Given the description of an element on the screen output the (x, y) to click on. 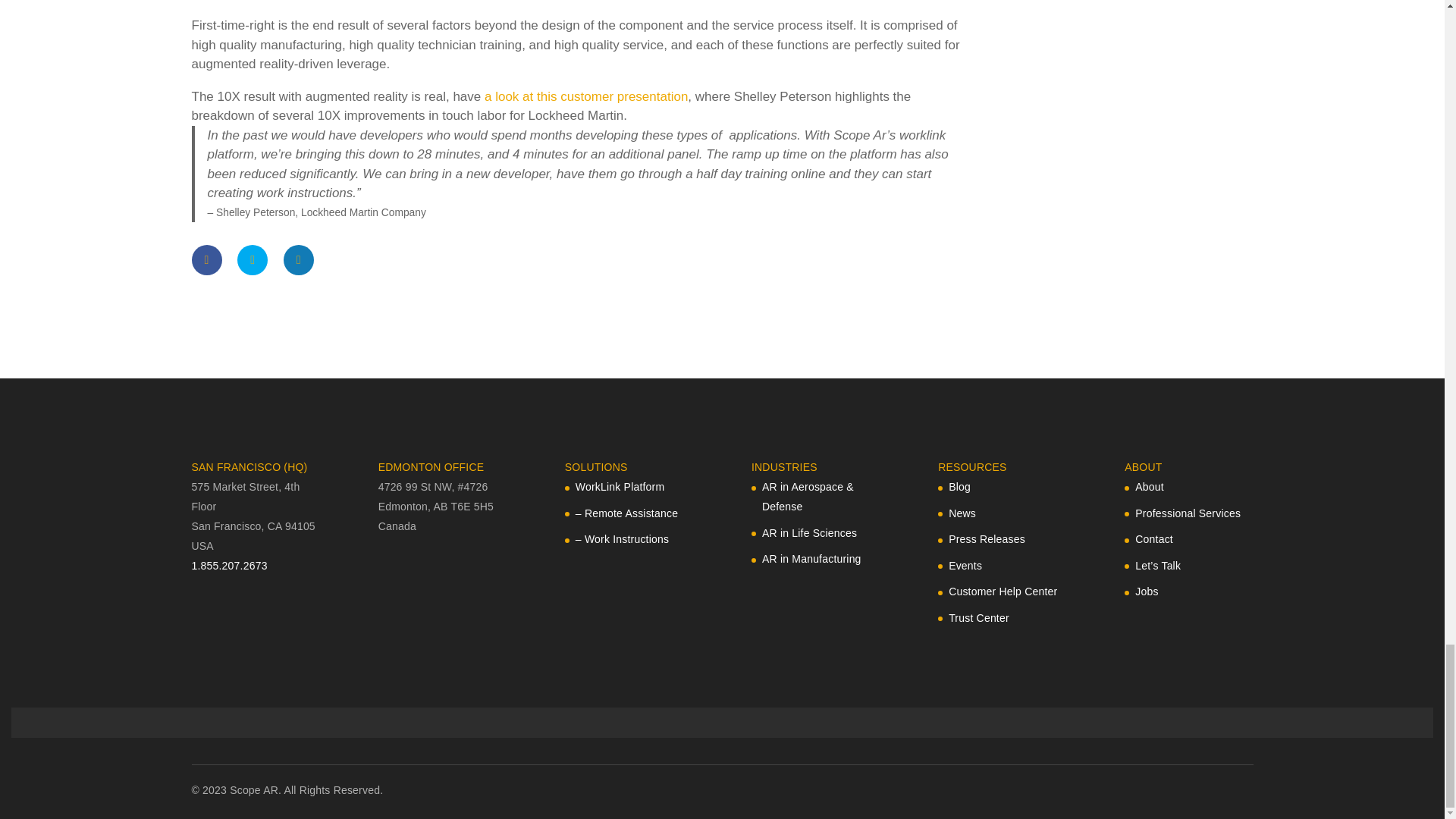
1.855.207.2673 (228, 565)
